Given the description of an element on the screen output the (x, y) to click on. 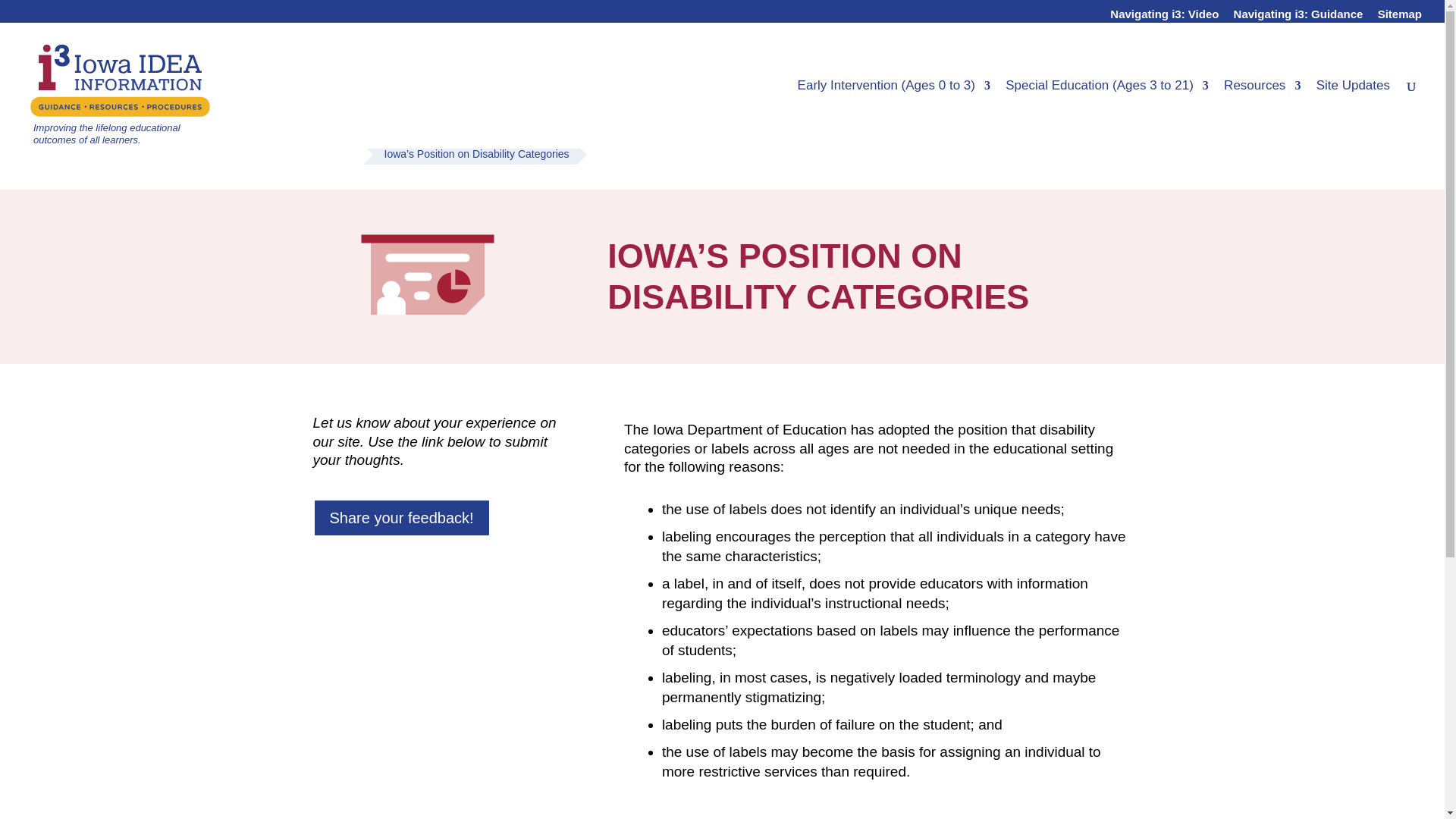
Sitemap (1399, 17)
Navigating i3: Guidance (1297, 17)
Defining a Disability (961, 134)
Navigating i3: Video (1163, 17)
Home (397, 134)
Child Find Process for Special Education (800, 134)
Special Education (494, 134)
